Given the description of an element on the screen output the (x, y) to click on. 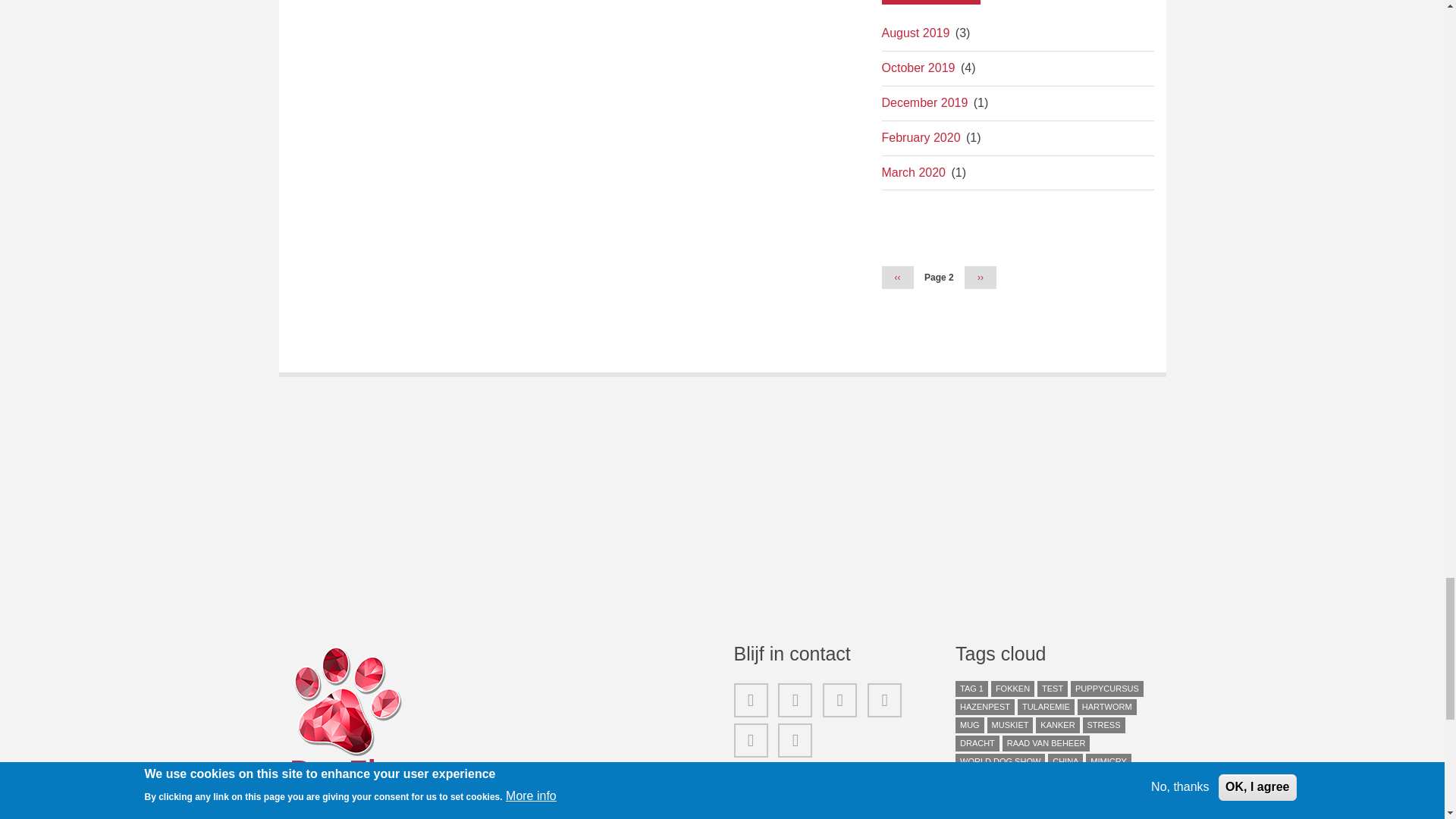
Uw email adres (833, 791)
Selecteer (929, 2)
